Given the description of an element on the screen output the (x, y) to click on. 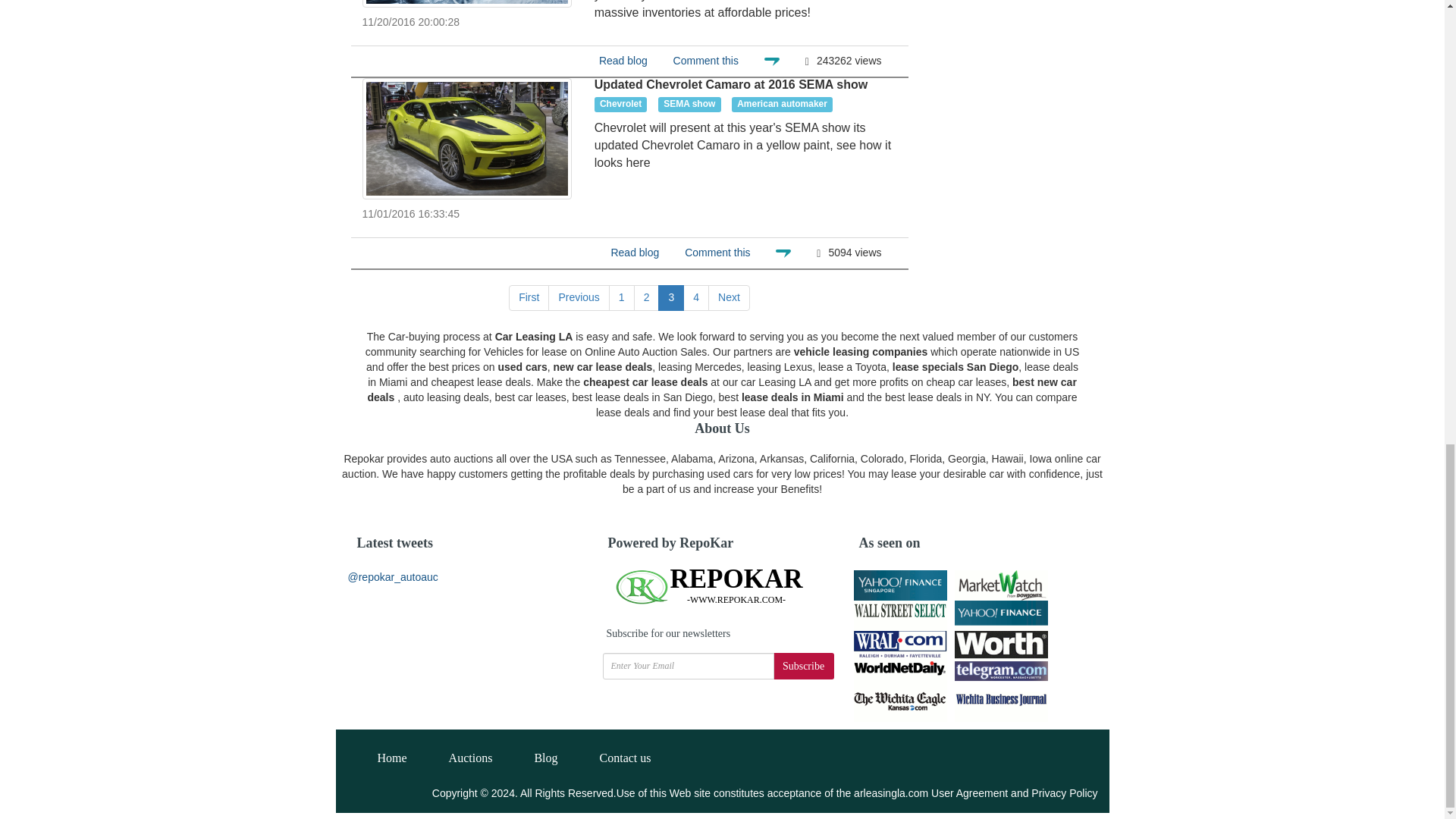
SEMA show (689, 104)
Comment this (705, 60)
Read blog (634, 252)
Read blog (622, 60)
Chevrolet (620, 104)
